Given the description of an element on the screen output the (x, y) to click on. 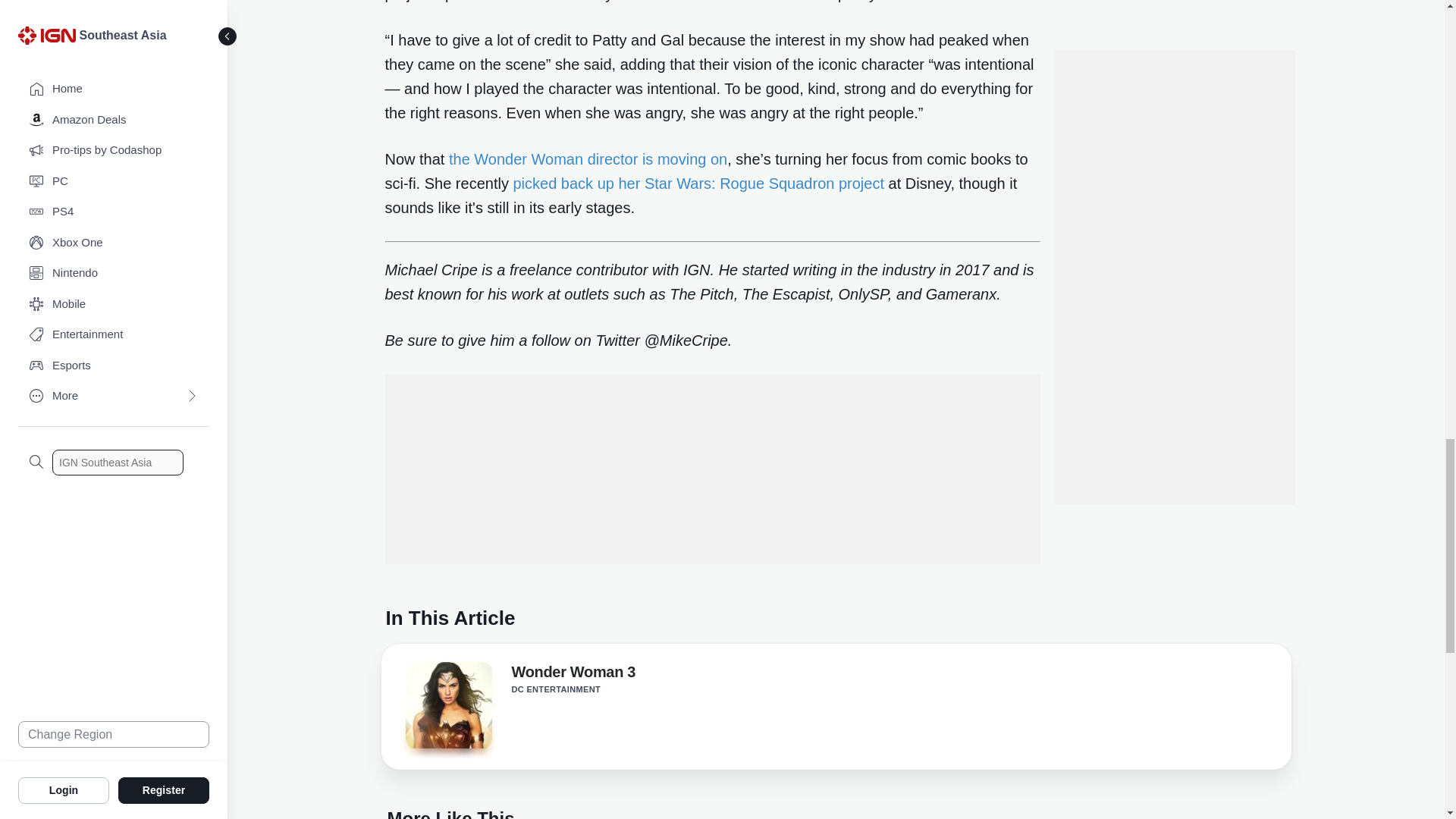
Wonder Woman 3 (448, 704)
Wonder Woman 3 (572, 674)
Wonder Woman 3 (448, 709)
